Given the description of an element on the screen output the (x, y) to click on. 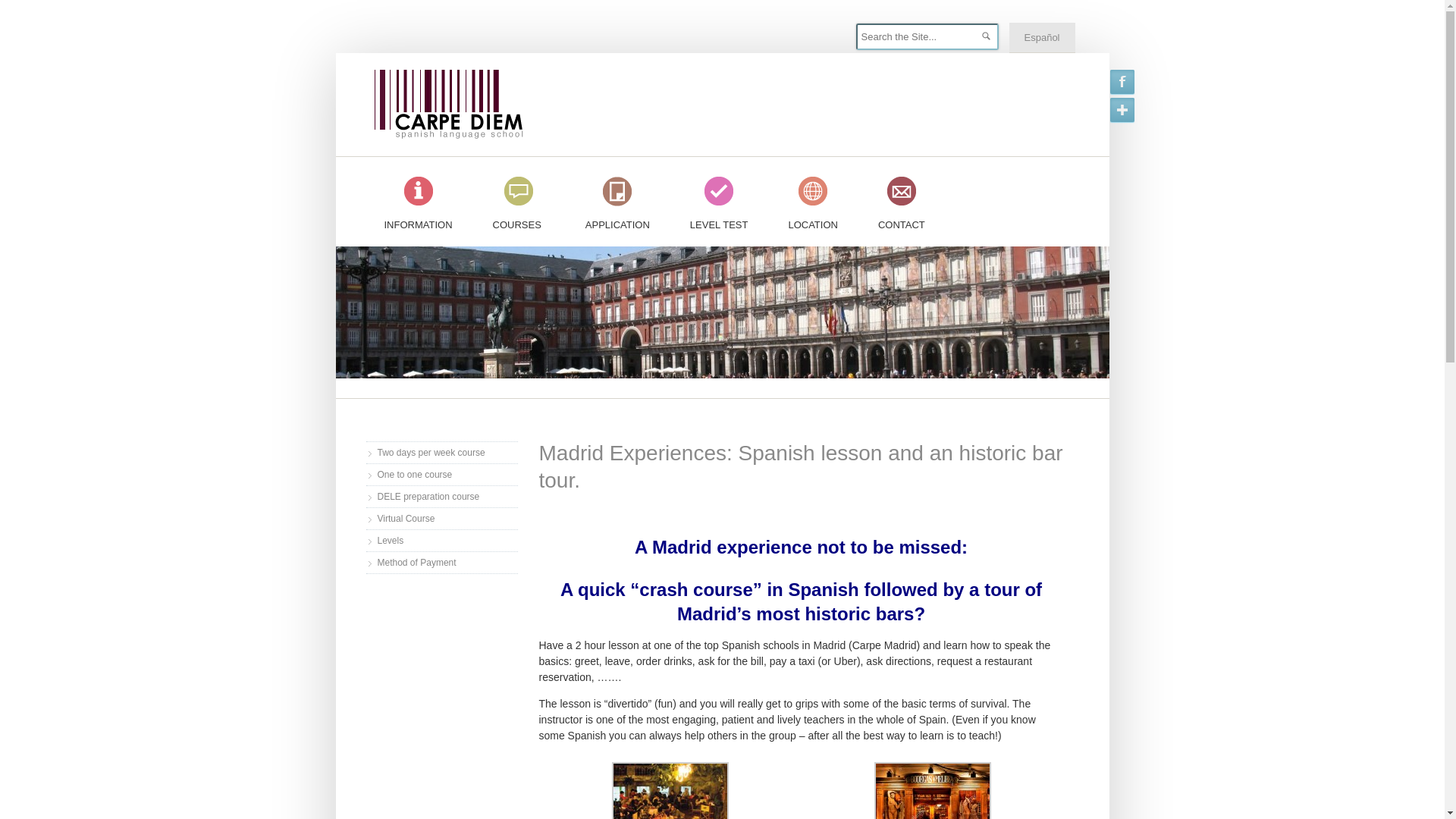
Virtual Course (406, 517)
Levels (390, 540)
One to one course (414, 473)
APPLICATION (617, 198)
Google (1121, 109)
Two days per week course (430, 452)
COURSES (519, 198)
DELE preparation course (428, 496)
Join Us on Facebook! (1121, 81)
School Information (417, 198)
